Given the description of an element on the screen output the (x, y) to click on. 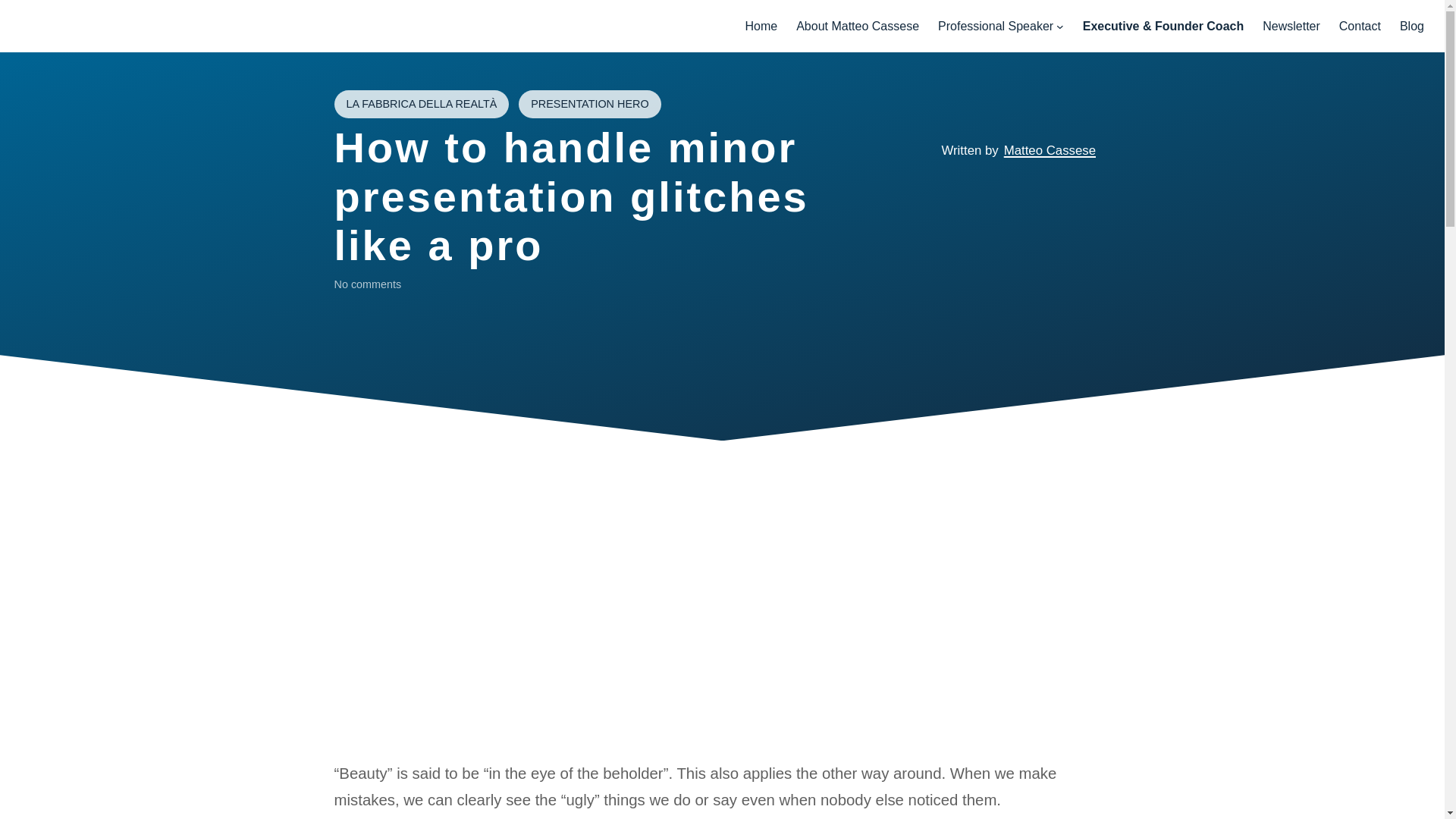
About Matteo Cassese (857, 26)
Newsletter (1291, 26)
Contact (1359, 26)
Professional Speaker (994, 26)
PRESENTATION HERO (589, 104)
Home (760, 26)
Matteo Cassese (1050, 150)
Blog (1411, 26)
How to handle minor presentation glitches like a pro 1 (721, 698)
